Given the description of an element on the screen output the (x, y) to click on. 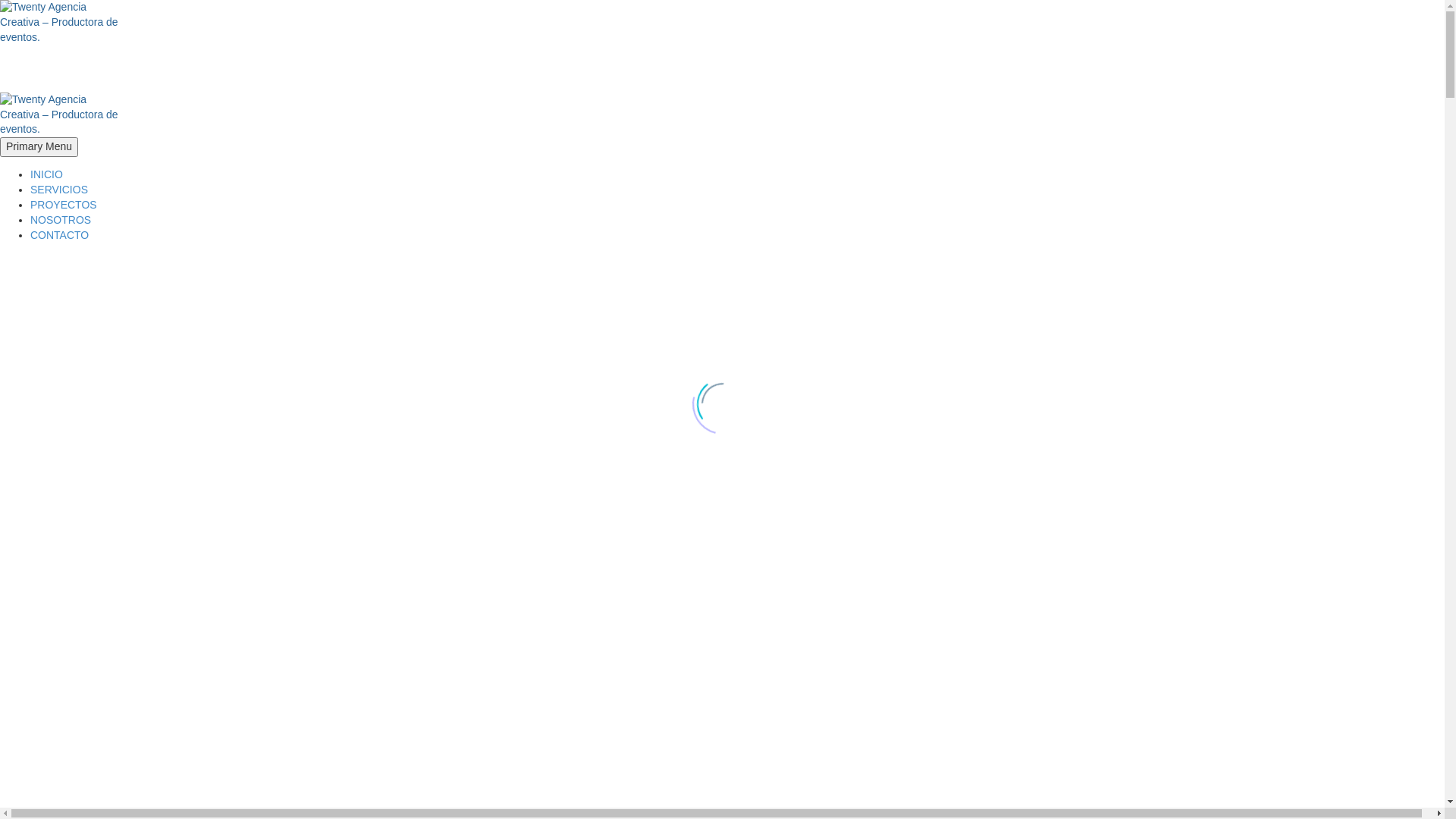
CONTACTO Element type: text (59, 235)
SERVICIOS Element type: text (58, 189)
PROYECTOS Element type: text (63, 204)
Primary Menu Element type: text (39, 146)
INICIO Element type: text (46, 174)
NOSOTROS Element type: text (60, 219)
